Given the description of an element on the screen output the (x, y) to click on. 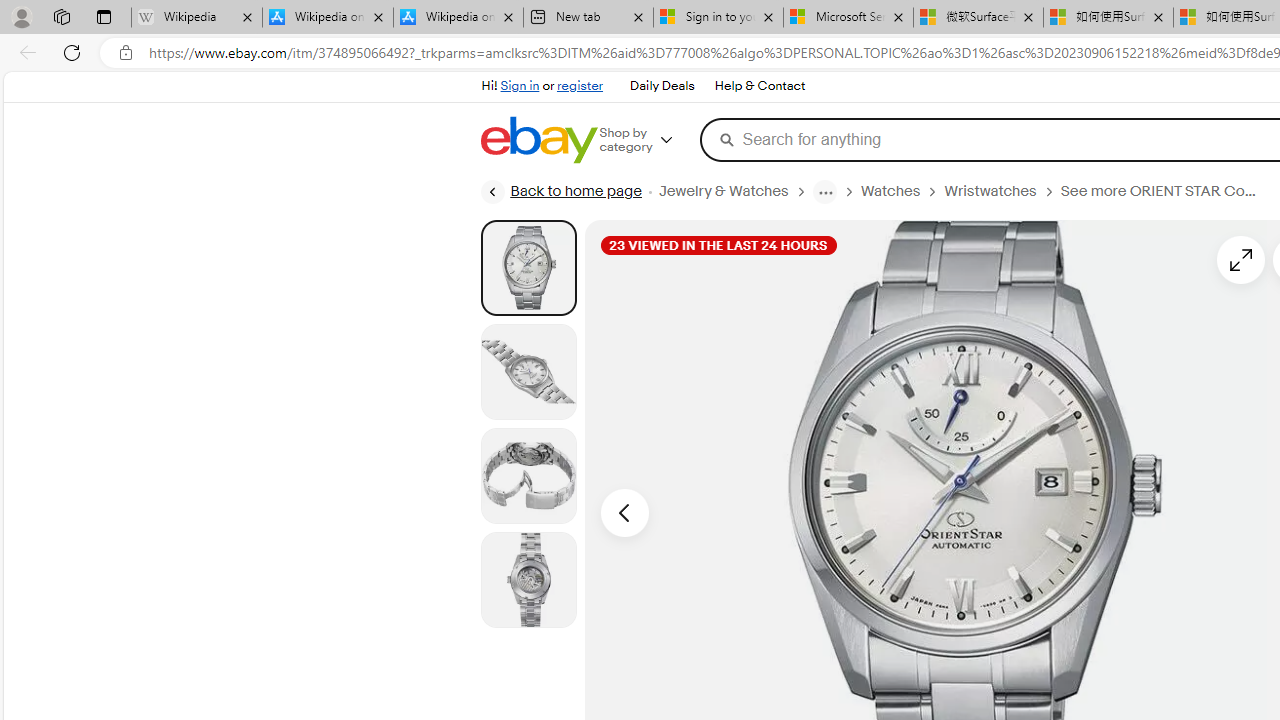
Picture 3 of 4 (528, 475)
See more ORIENT STAR Contemporary Standard White Dial M... (1168, 191)
Picture 4 of 4 (528, 579)
Watches (890, 191)
See more ORIENT STAR Contemporary Standard White Dial M... (1159, 191)
Watches (902, 191)
Wristwatches (1002, 191)
breadcrumb menu (824, 191)
